Given the description of an element on the screen output the (x, y) to click on. 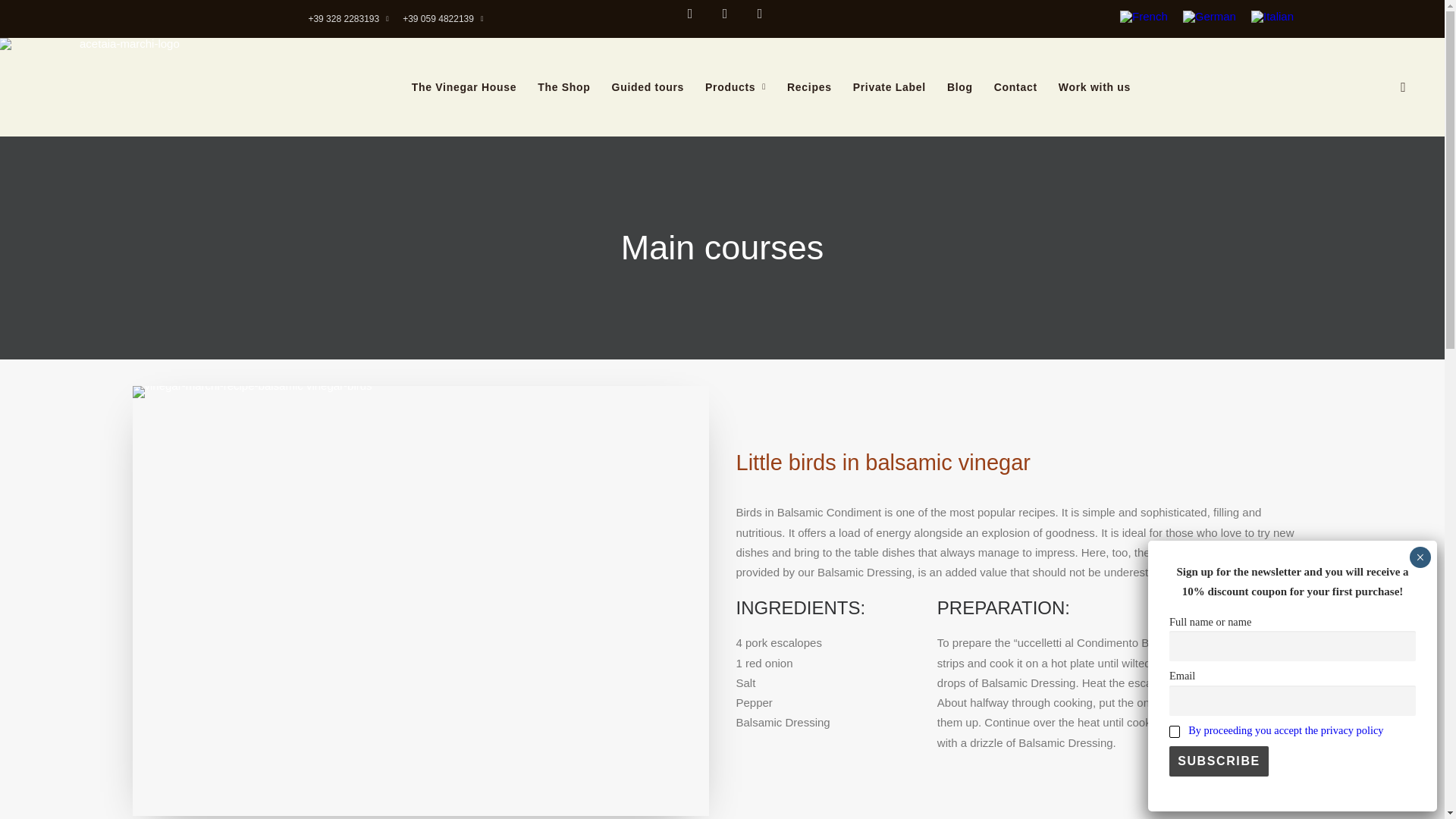
The Vinegar House (464, 86)
SUBSCRIBE (1218, 761)
Guided tours (648, 86)
Work with us (1094, 86)
Private Label (889, 86)
Guided tours (648, 86)
The Vinegar House (464, 86)
